Given the description of an element on the screen output the (x, y) to click on. 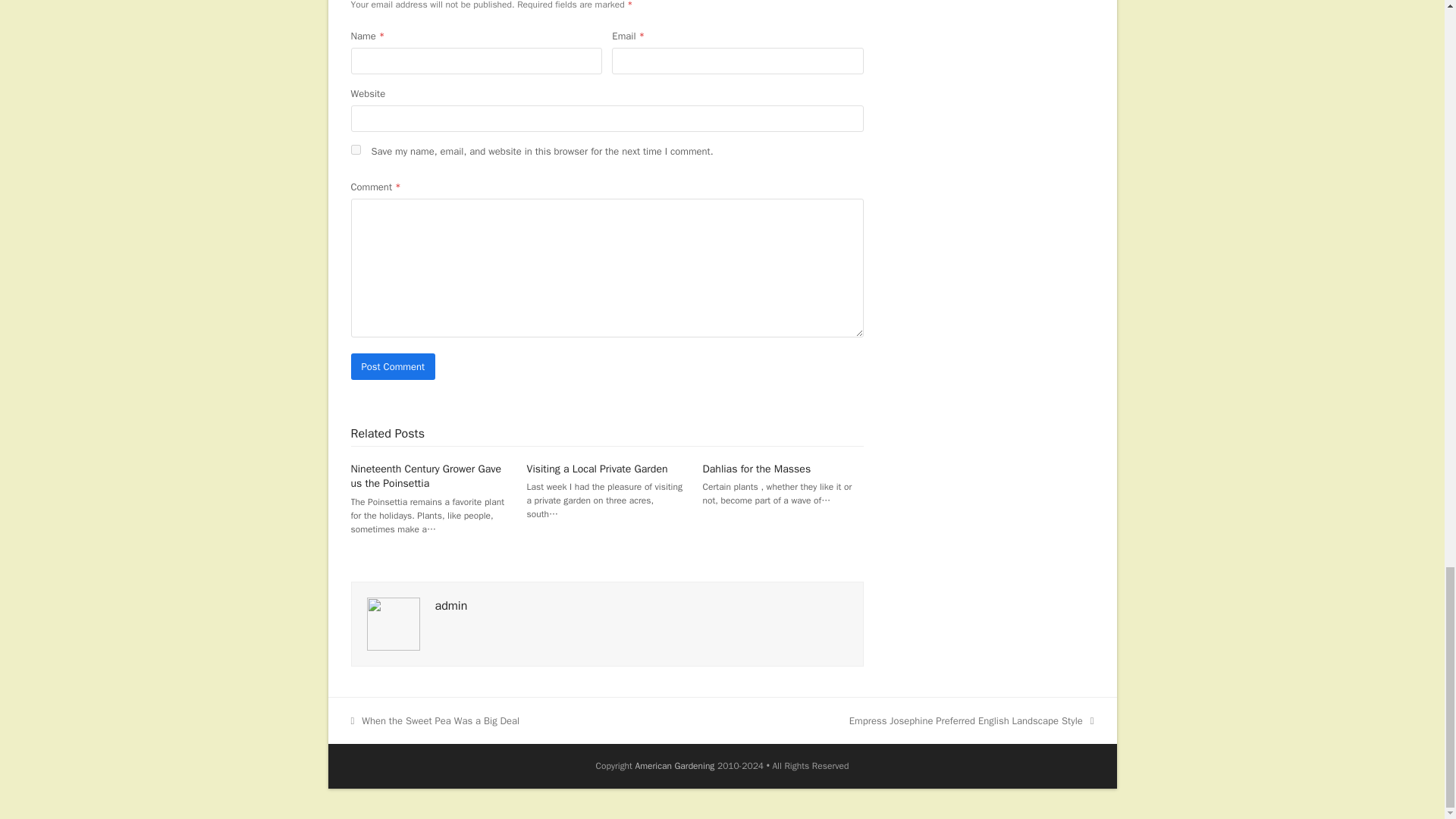
yes (354, 149)
American Gardening (674, 766)
Post Comment (434, 720)
Visiting a Local Private Garden (392, 366)
Nineteenth Century Grower Gave us the Poinsettia (597, 468)
Visit Author Page (425, 475)
admin (393, 622)
Dahlias for the Masses (451, 605)
